Given the description of an element on the screen output the (x, y) to click on. 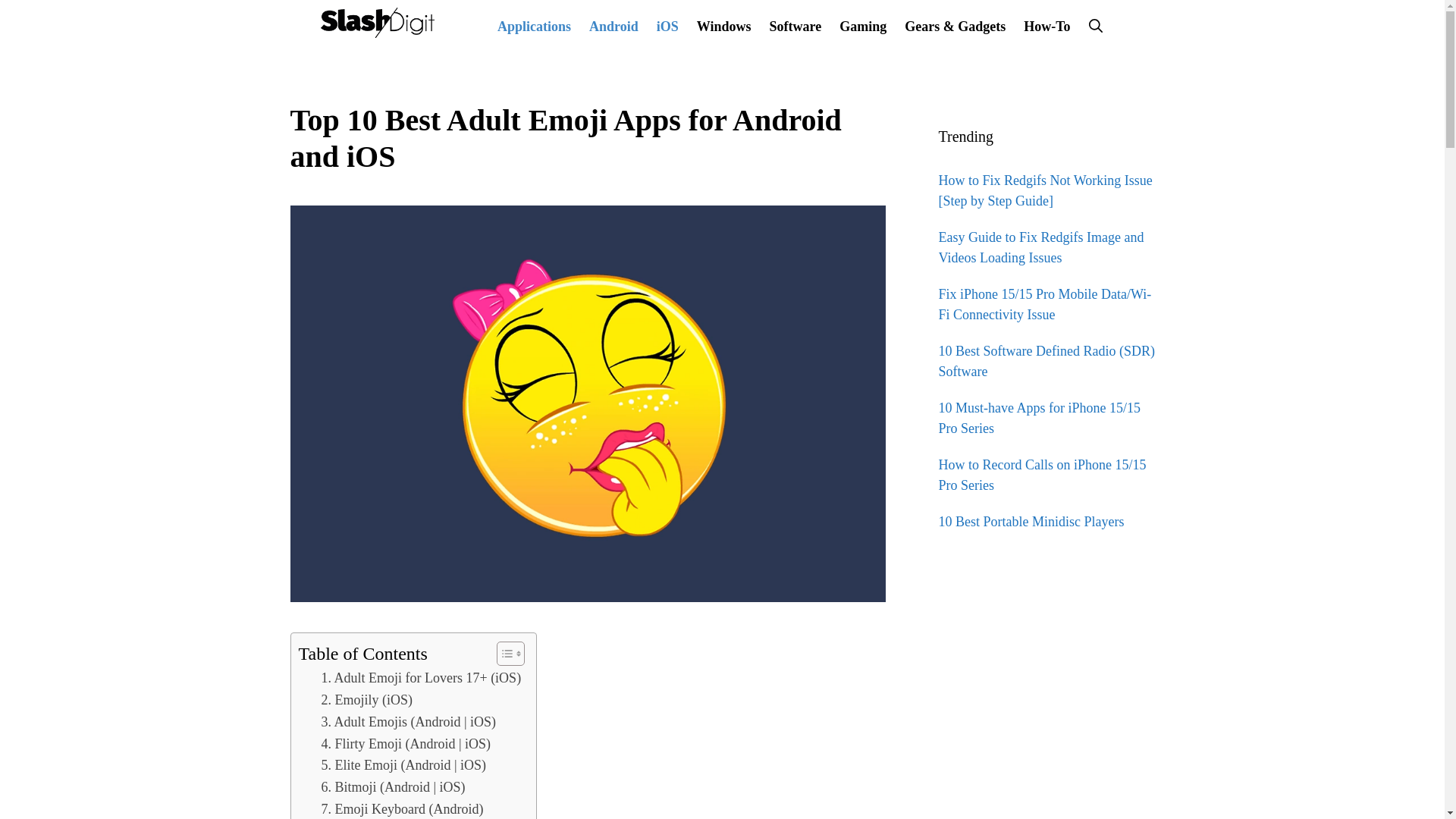
Software (794, 26)
iOS (667, 26)
Android (613, 26)
Slashdigit (376, 22)
How-To (1046, 26)
Gaming (862, 26)
Windows (723, 26)
Applications (533, 26)
Slashdigit (376, 21)
